Given the description of an element on the screen output the (x, y) to click on. 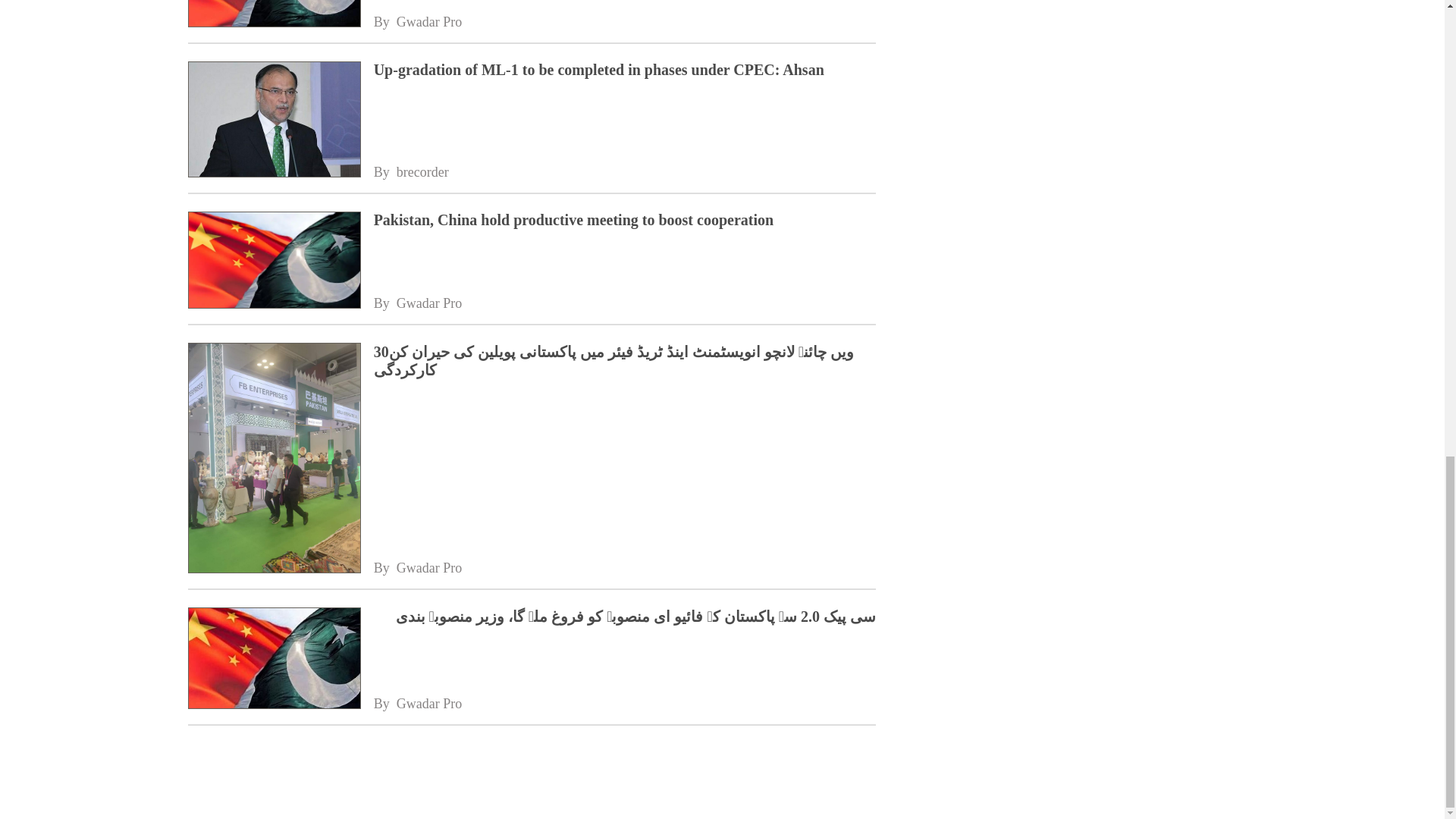
Pakistan, China hold productive meeting to boost cooperation (273, 261)
Pakistan, China hold productive meeting to boost cooperation (625, 220)
Pakistan, China hold productive meeting to boost cooperation (625, 220)
